Given the description of an element on the screen output the (x, y) to click on. 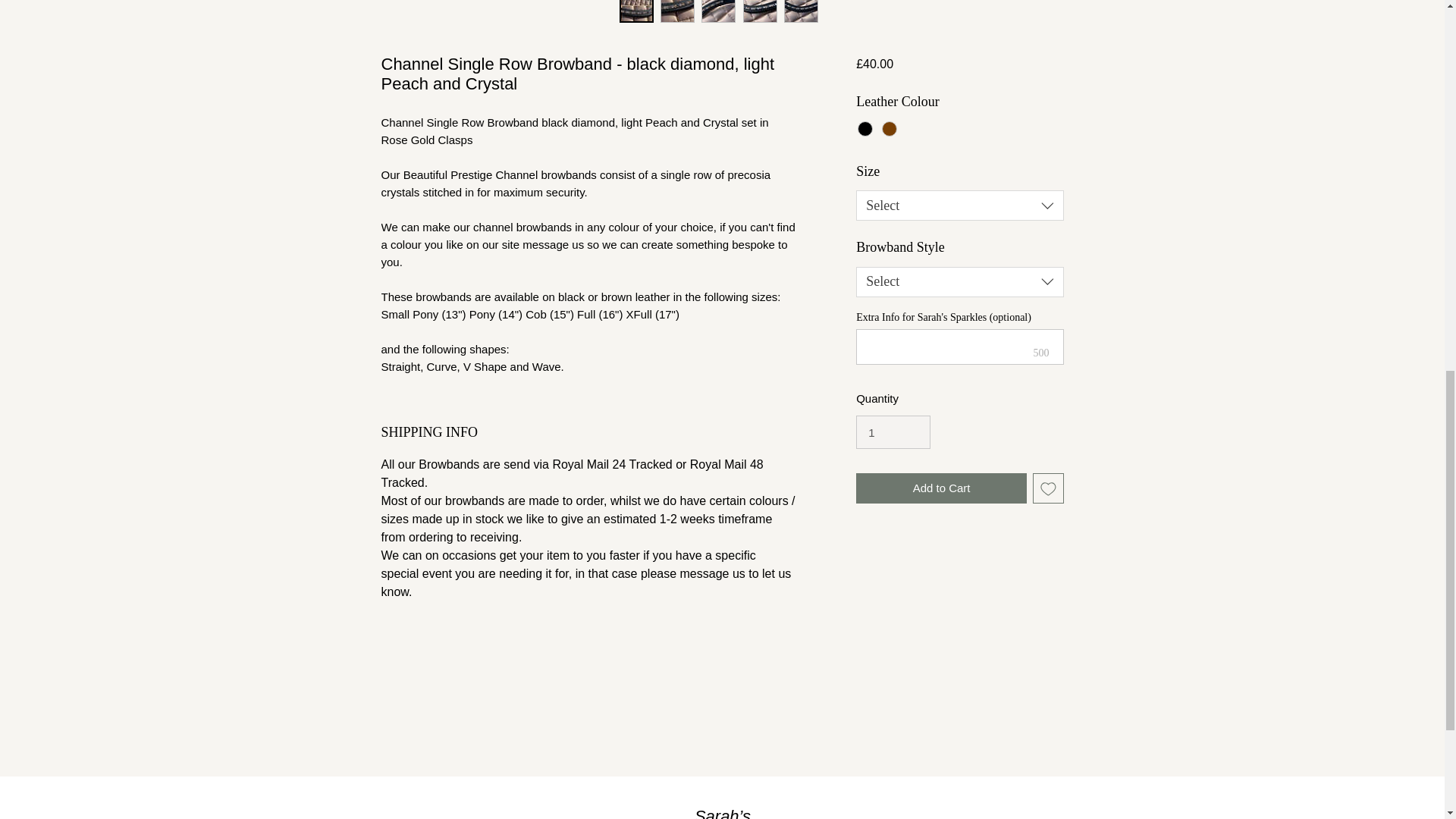
1 (893, 431)
Add to Cart (941, 488)
Select (959, 281)
Select (959, 205)
